Given the description of an element on the screen output the (x, y) to click on. 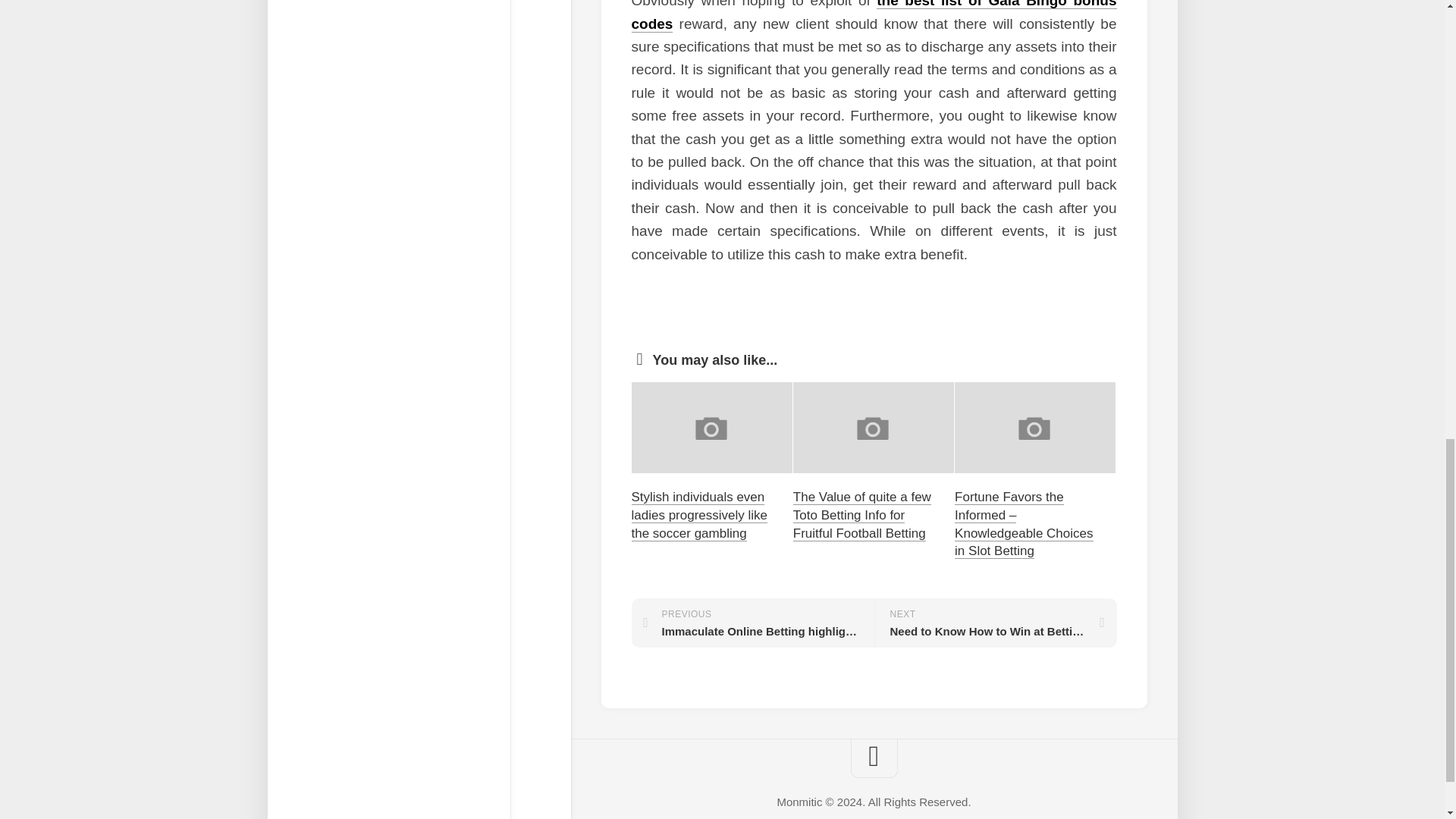
the best list of Gala Bingo bonus codes (873, 15)
